Given the description of an element on the screen output the (x, y) to click on. 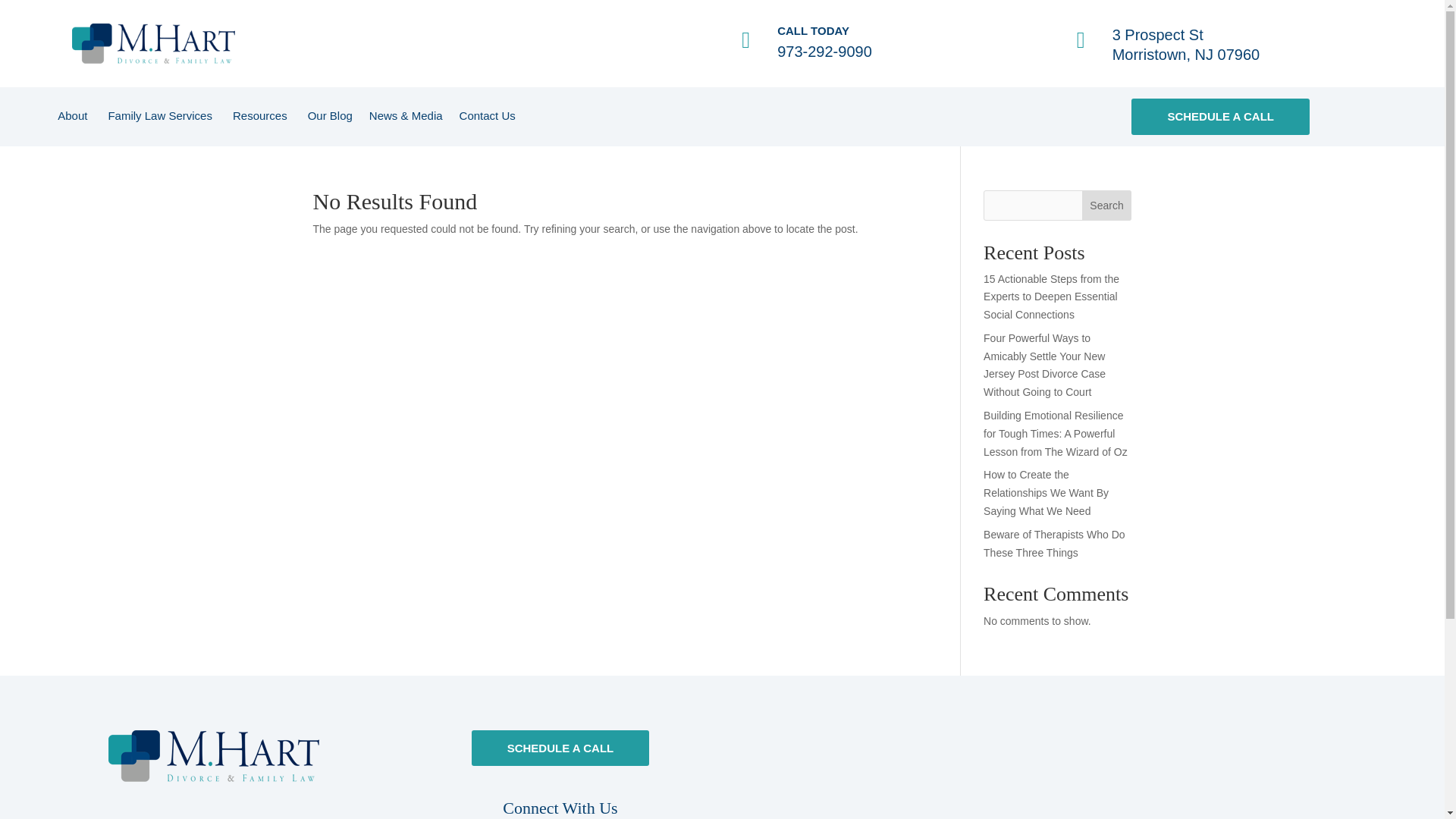
Resources (261, 118)
Family Law Services (161, 118)
m-hart-logo (152, 43)
About (74, 118)
973-292-9090 (824, 51)
Contact Us (487, 118)
m-hart-logo (212, 756)
Our Blog (329, 118)
